Given the description of an element on the screen output the (x, y) to click on. 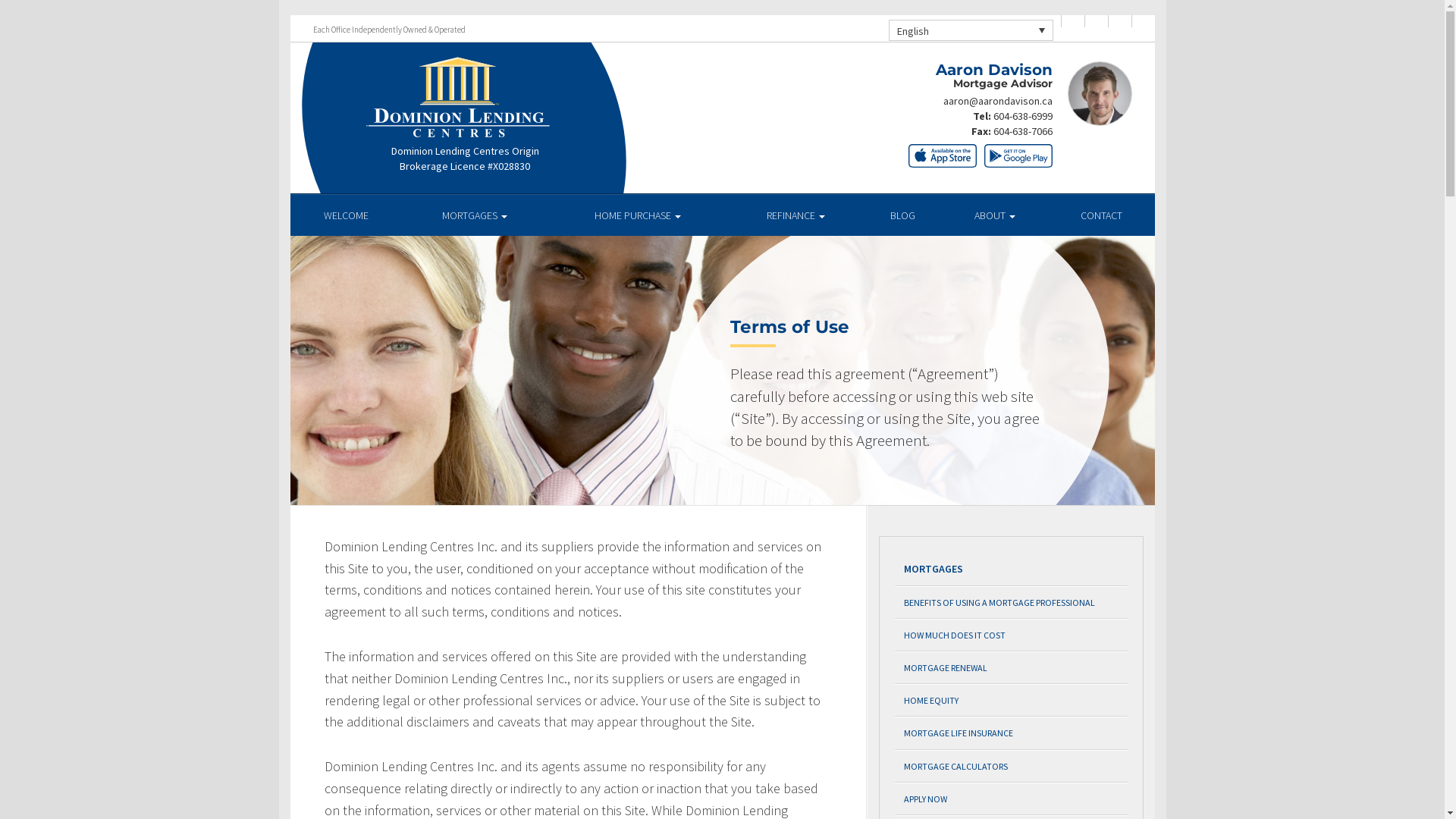
HOME PURCHASE Element type: text (637, 214)
MORTGAGE LIFE INSURANCE Element type: text (1010, 732)
MORTGAGES Element type: text (474, 214)
English Element type: text (970, 29)
BLOG Element type: text (901, 214)
BENEFITS OF USING A MORTGAGE PROFESSIONAL Element type: text (1010, 602)
604-638-6999 Element type: text (1022, 115)
MORTGAGE CALCULATORS Element type: text (1010, 765)
REFINANCE Element type: text (795, 214)
HOW MUCH DOES IT COST Element type: text (1010, 634)
604-638-7066 Element type: text (1022, 131)
APPLY NOW Element type: text (1010, 798)
MORTGAGES Element type: text (1010, 569)
ABOUT Element type: text (994, 214)
MORTGAGE RENEWAL Element type: text (1010, 667)
WELCOME Element type: text (345, 214)
aaron@aarondavison.ca Element type: text (997, 100)
CONTACT Element type: text (1101, 214)
HOME EQUITY Element type: text (1010, 700)
